Given the description of an element on the screen output the (x, y) to click on. 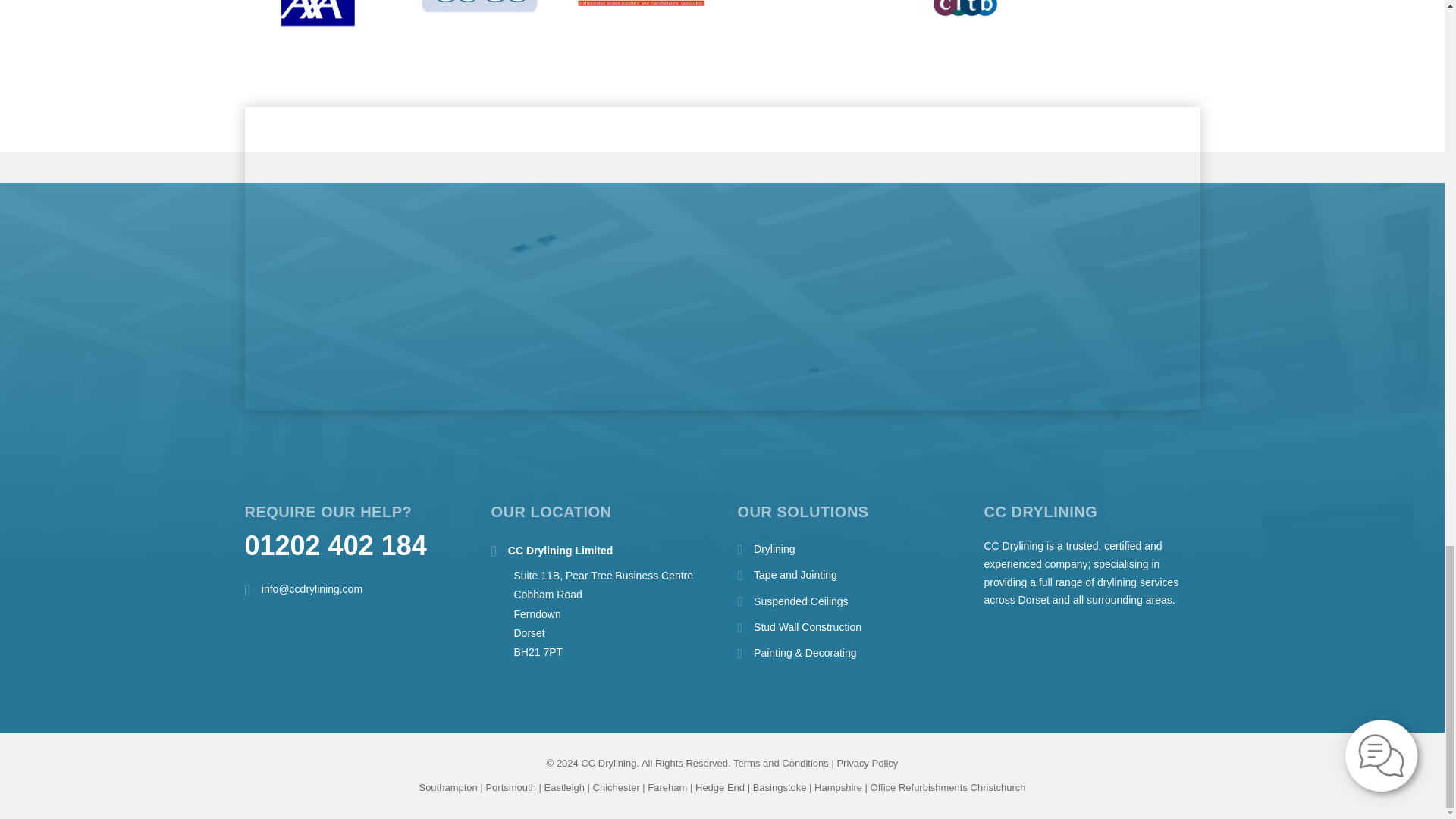
Portsmouth (509, 787)
Fareham (667, 787)
Hampshire (837, 787)
Privacy Policy (866, 763)
Require our help? (328, 511)
Hedge End (719, 787)
CC DRYLINING (1040, 511)
CC Drylining (1040, 511)
OUR SOLUTIONS (801, 511)
Chichester (616, 787)
